Given the description of an element on the screen output the (x, y) to click on. 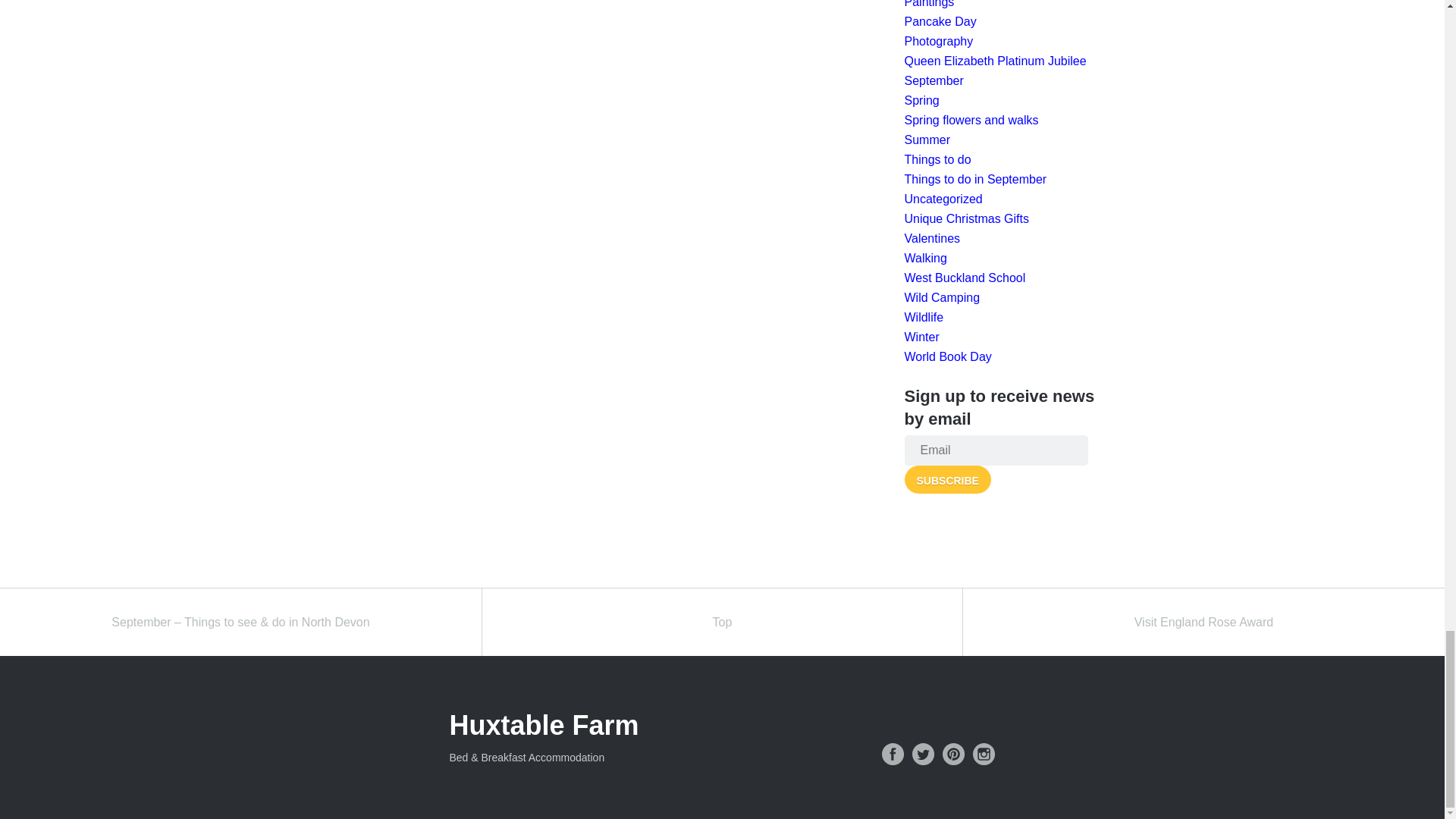
Follow on Twitter (922, 753)
Subscribe (947, 479)
Follow on Pinterest (952, 753)
Follow on Instagram (983, 753)
Follow on Facebook (892, 753)
